Given the description of an element on the screen output the (x, y) to click on. 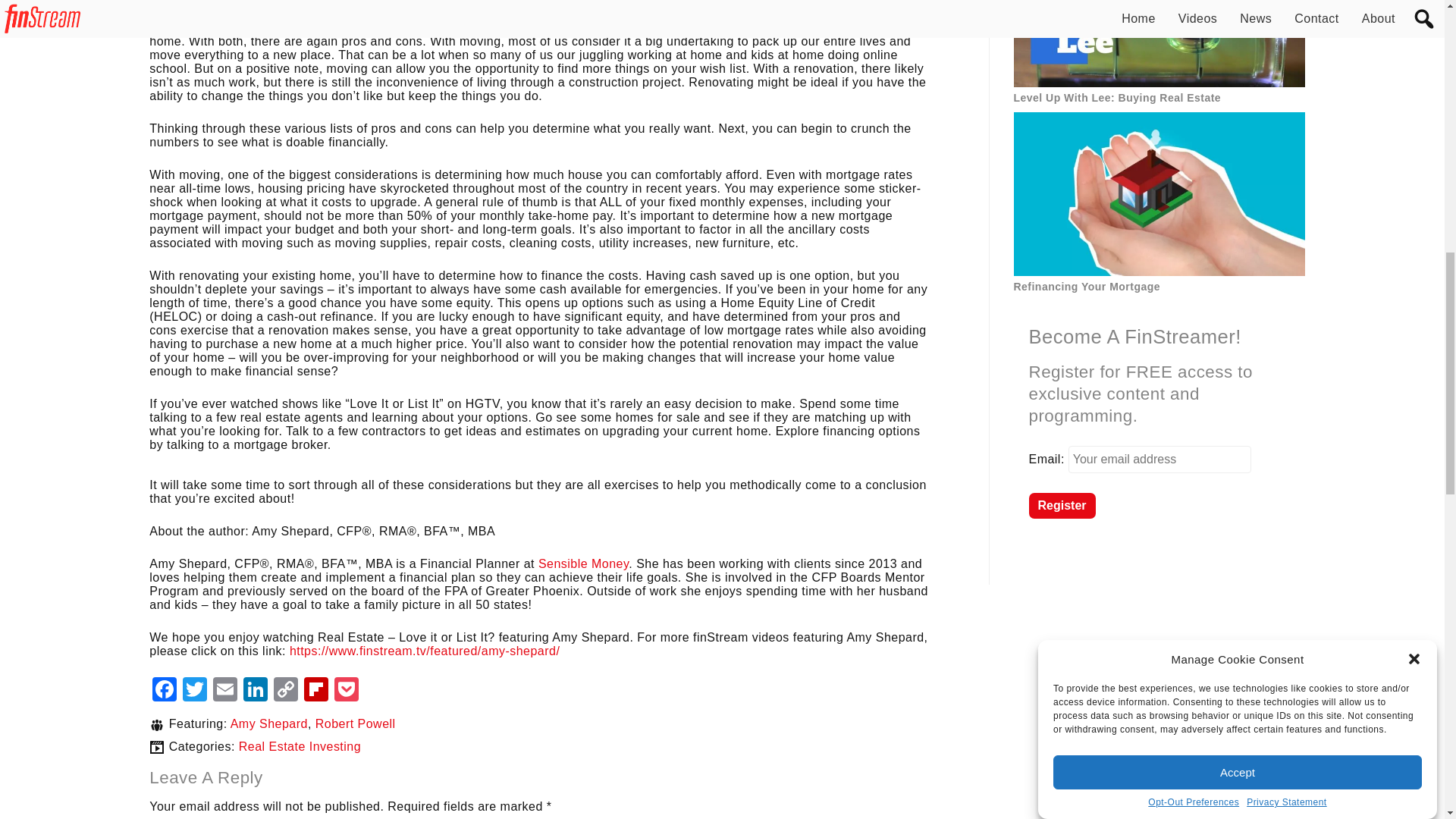
LinkedIn (255, 691)
Robert Powell (355, 723)
Copy Link (285, 691)
Pocket (346, 691)
Twitter (194, 691)
Real Estate Investing (299, 746)
Twitter (194, 691)
Amy Shepard (268, 723)
Accept (1237, 48)
LinkedIn (255, 691)
Email (224, 691)
Register (1060, 505)
Facebook (164, 691)
Facebook (164, 691)
Sensible Money (583, 563)
